Given the description of an element on the screen output the (x, y) to click on. 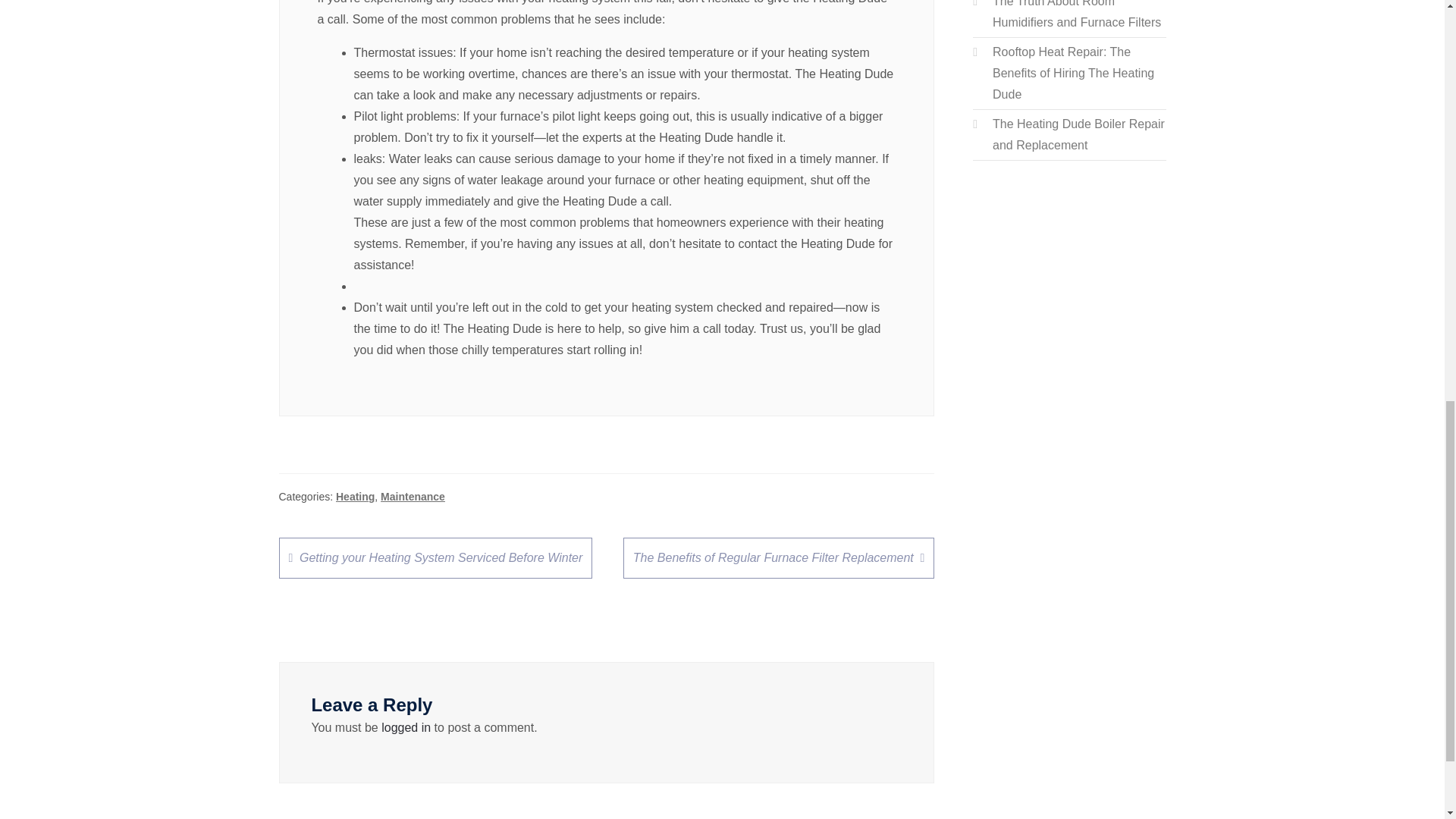
The Truth About Room Humidifiers and Furnace Filters (1076, 14)
Rooftop Heat Repair: The Benefits of Hiring The Heating Dude (1073, 72)
logged in (405, 727)
The Benefits of Regular Furnace Filter Replacement (778, 557)
Maintenance (412, 496)
Getting your Heating System Serviced Before Winter (435, 557)
The Heating Dude Boiler Repair and Replacement (1078, 134)
Heating (355, 496)
